Given the description of an element on the screen output the (x, y) to click on. 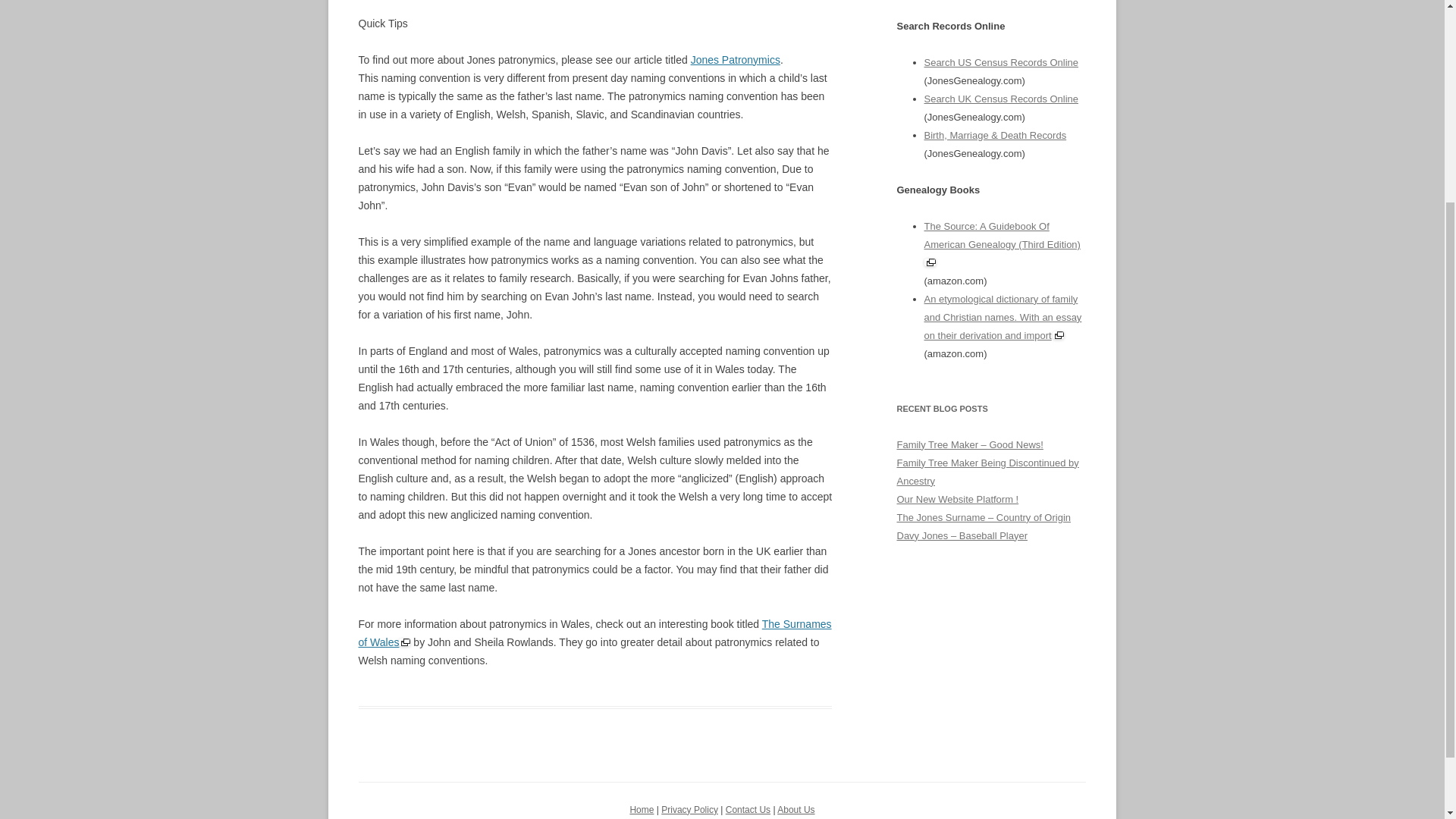
Search US Census Records Online (1000, 61)
Jones Patronymics (735, 60)
Search UK Census Records Online (1000, 98)
The Surnames of Wales (594, 633)
